Given the description of an element on the screen output the (x, y) to click on. 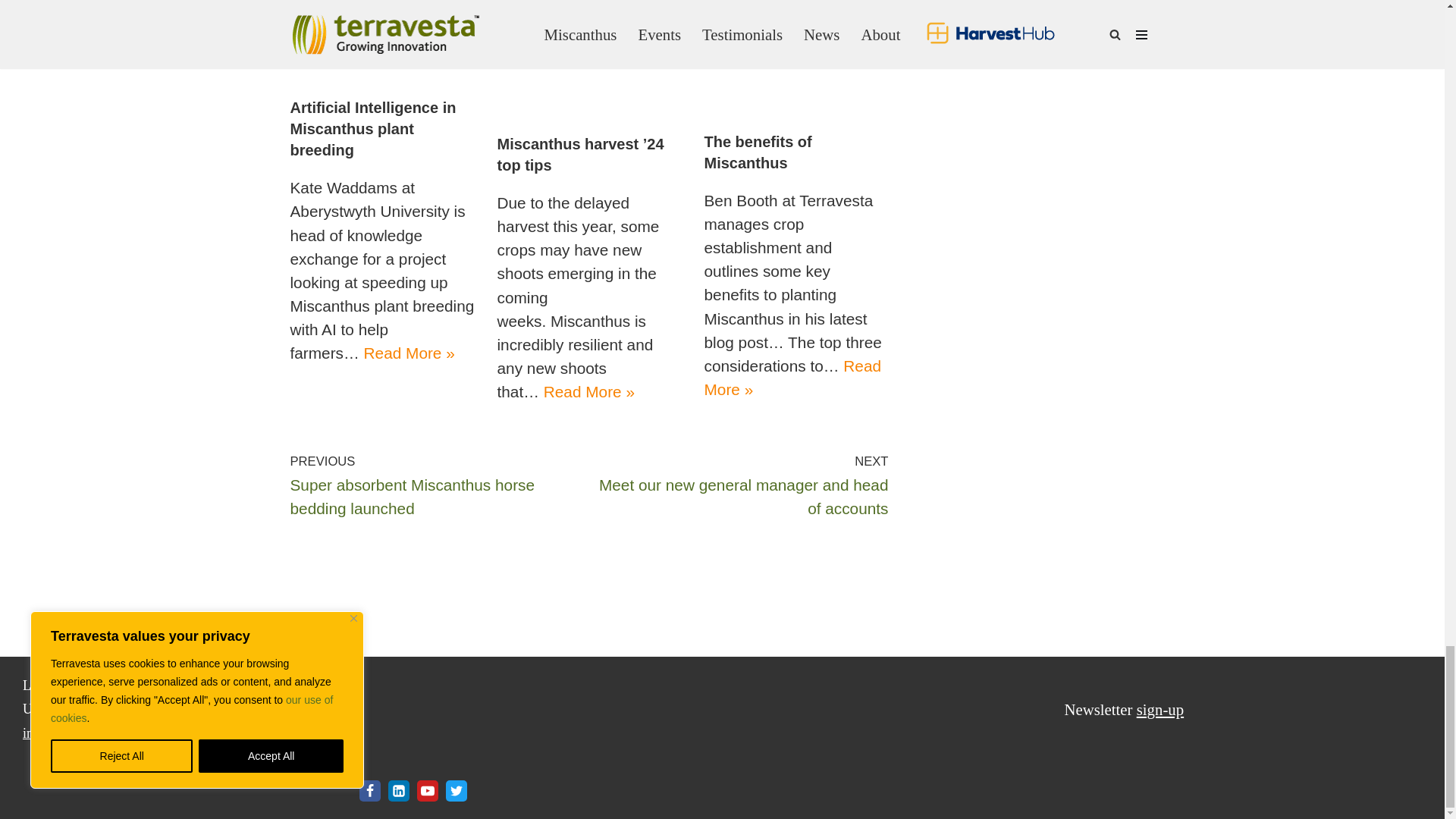
Facebook (369, 790)
Youtube (427, 790)
LinkedIn (398, 790)
